Given the description of an element on the screen output the (x, y) to click on. 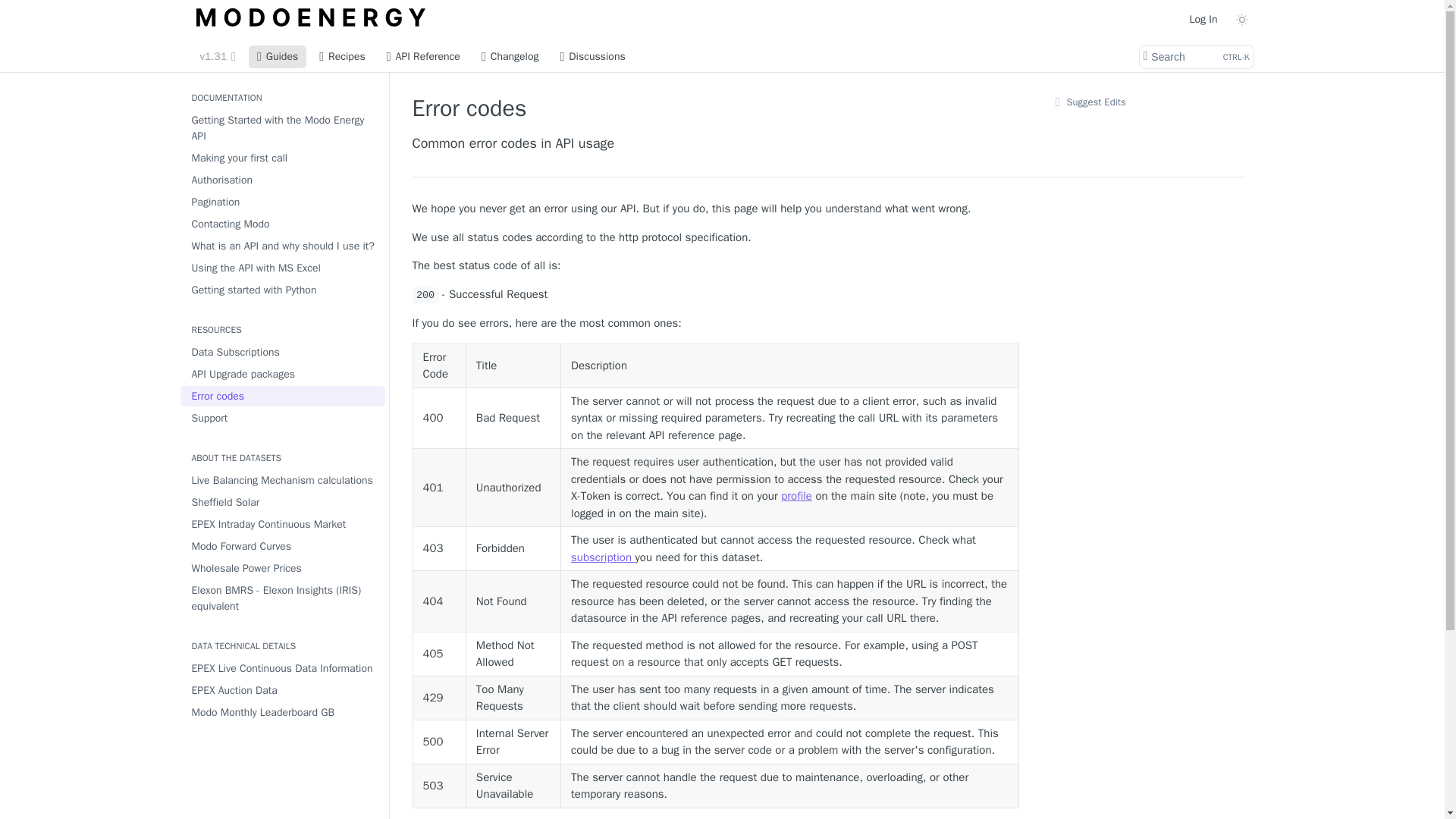
Support (282, 417)
Log In (1202, 18)
Contacting Modo (1195, 56)
EPEX Intraday Continuous Market (282, 223)
Error codes (282, 524)
Guides (282, 395)
Getting started with Python (276, 56)
What is an API and why should I use it? (282, 290)
Getting Started with the Modo Energy API (282, 245)
